Given the description of an element on the screen output the (x, y) to click on. 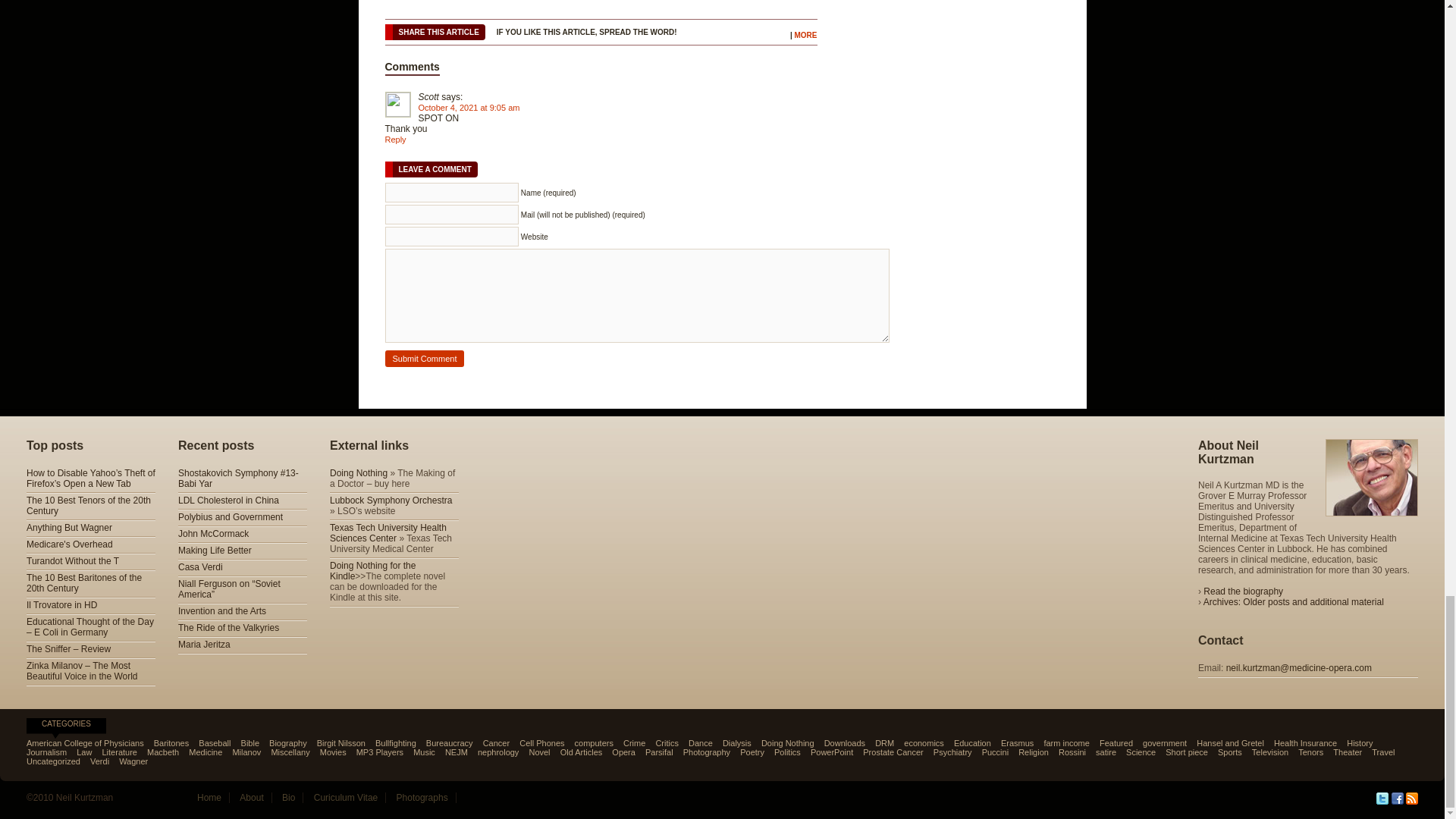
Submit Comment (424, 358)
Permalink to The Ride of the Valkyries (228, 627)
Permalink to Casa Verdi (199, 566)
MORE (805, 35)
Permalink to Maria Jeritza (203, 644)
Permalink to LDL Cholesterol in China (228, 500)
Permalink to John McCormack (212, 533)
October 4, 2021 at 9:05 am (469, 107)
Permalink to Invention and the Arts (221, 611)
Permalink to Making Life Better (214, 550)
Reply (395, 139)
Permalink to Polybius and Government (229, 516)
Submit Comment (424, 358)
